Given the description of an element on the screen output the (x, y) to click on. 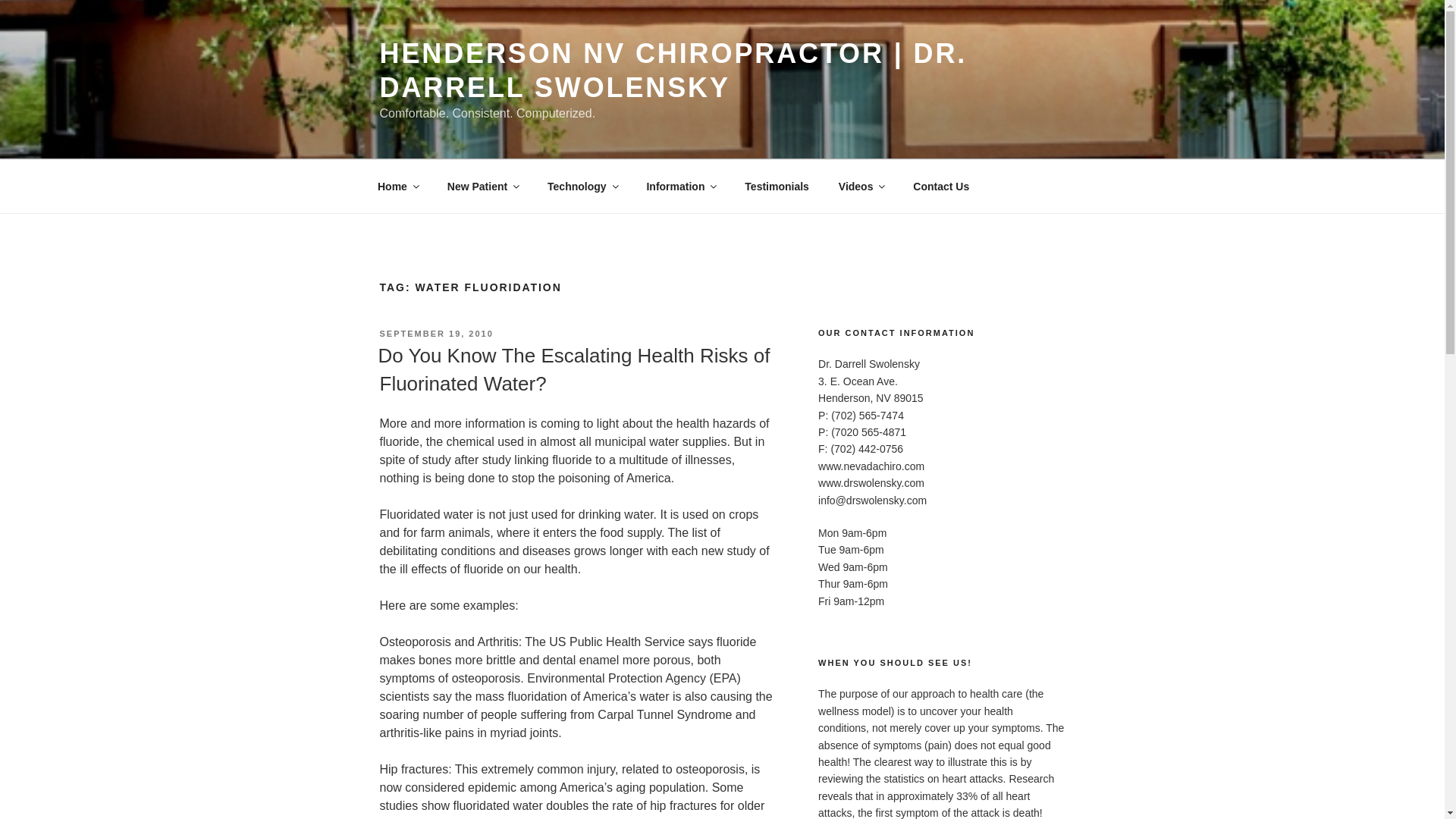
Home (397, 186)
Technology (582, 186)
New Patient (482, 186)
